Given the description of an element on the screen output the (x, y) to click on. 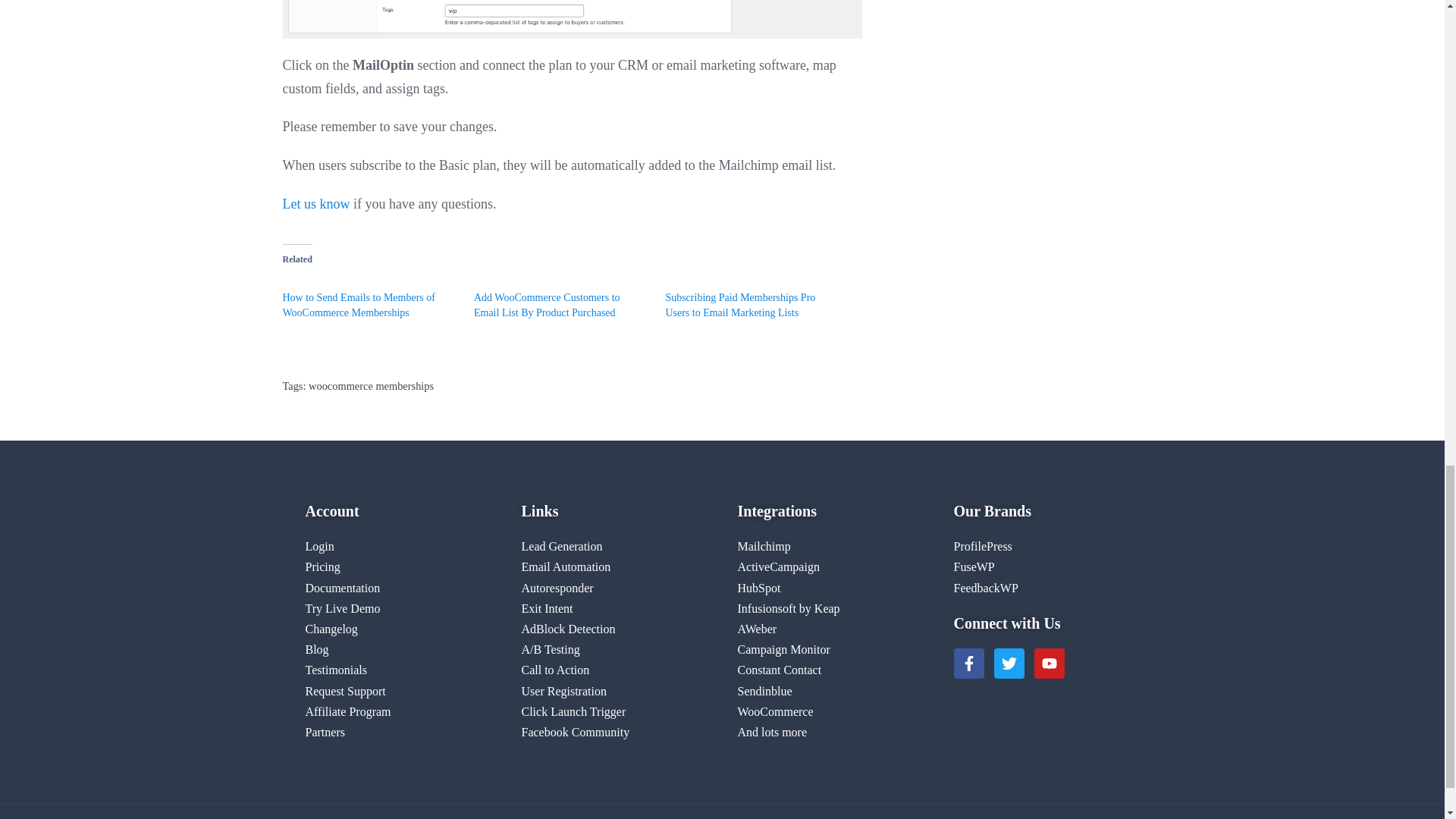
How to Send Emails to Members of WooCommerce Memberships (357, 304)
Let us know (315, 203)
Add WooCommerce Customers to Email List By Product Purchased (547, 304)
